Given the description of an element on the screen output the (x, y) to click on. 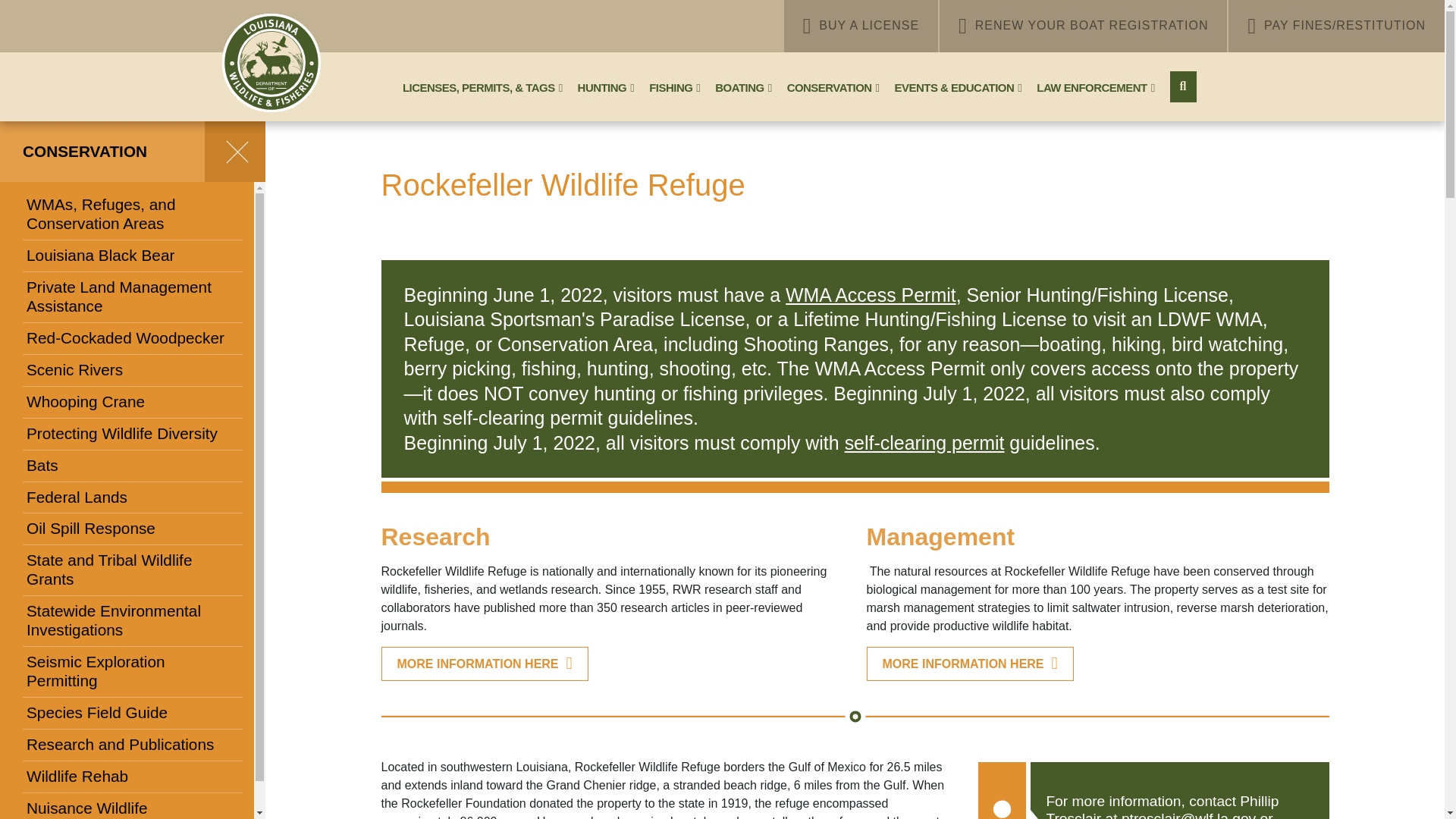
RENEW YOUR BOAT REGISTRATION (1083, 26)
BUY A LICENSE (860, 26)
HUNTING (606, 87)
Rockefeller Research (484, 663)
